Given the description of an element on the screen output the (x, y) to click on. 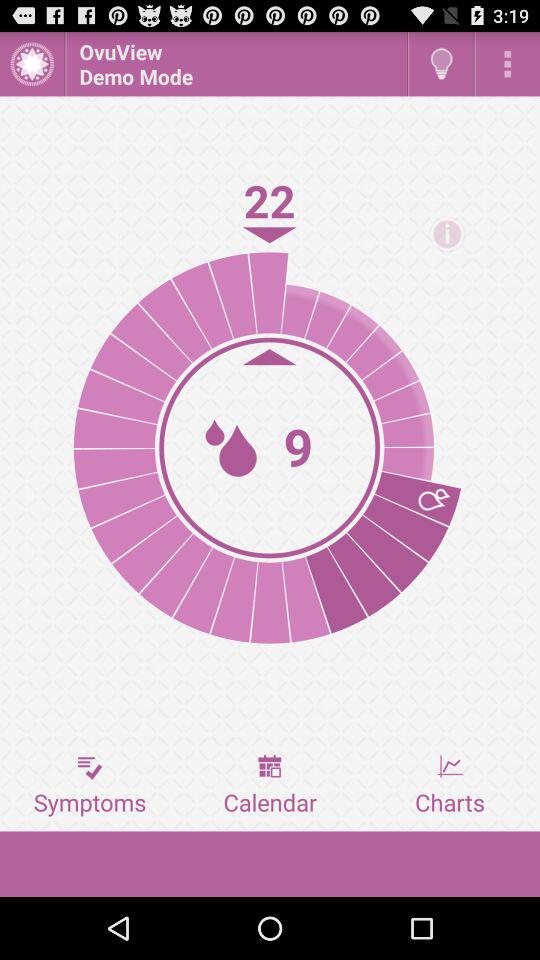
jump until symptoms button (90, 785)
